Given the description of an element on the screen output the (x, y) to click on. 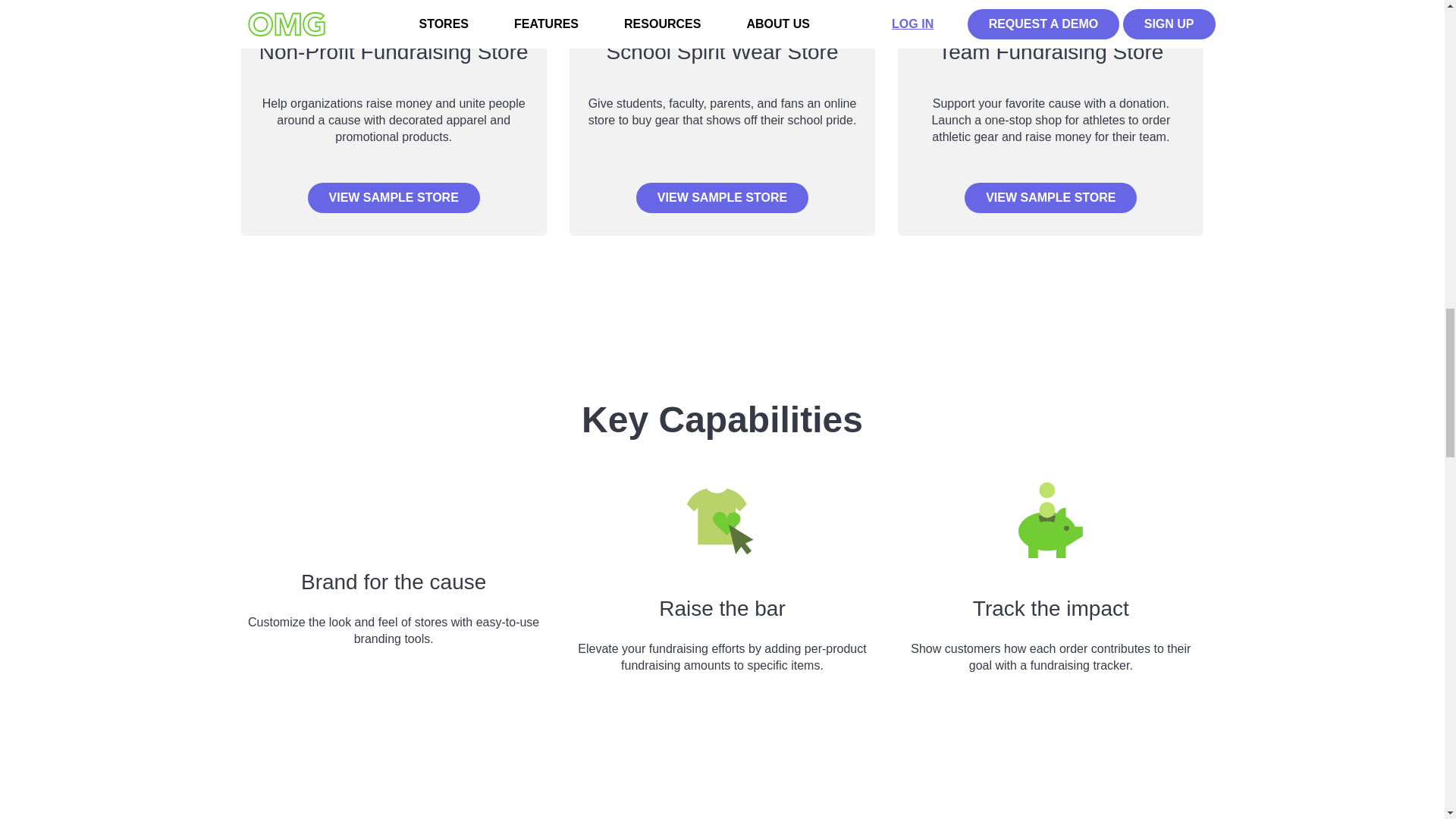
VIEW SAMPLE STORE (1050, 197)
VIEW SAMPLE STORE (393, 197)
VIEW SAMPLE STORE (722, 197)
